Given the description of an element on the screen output the (x, y) to click on. 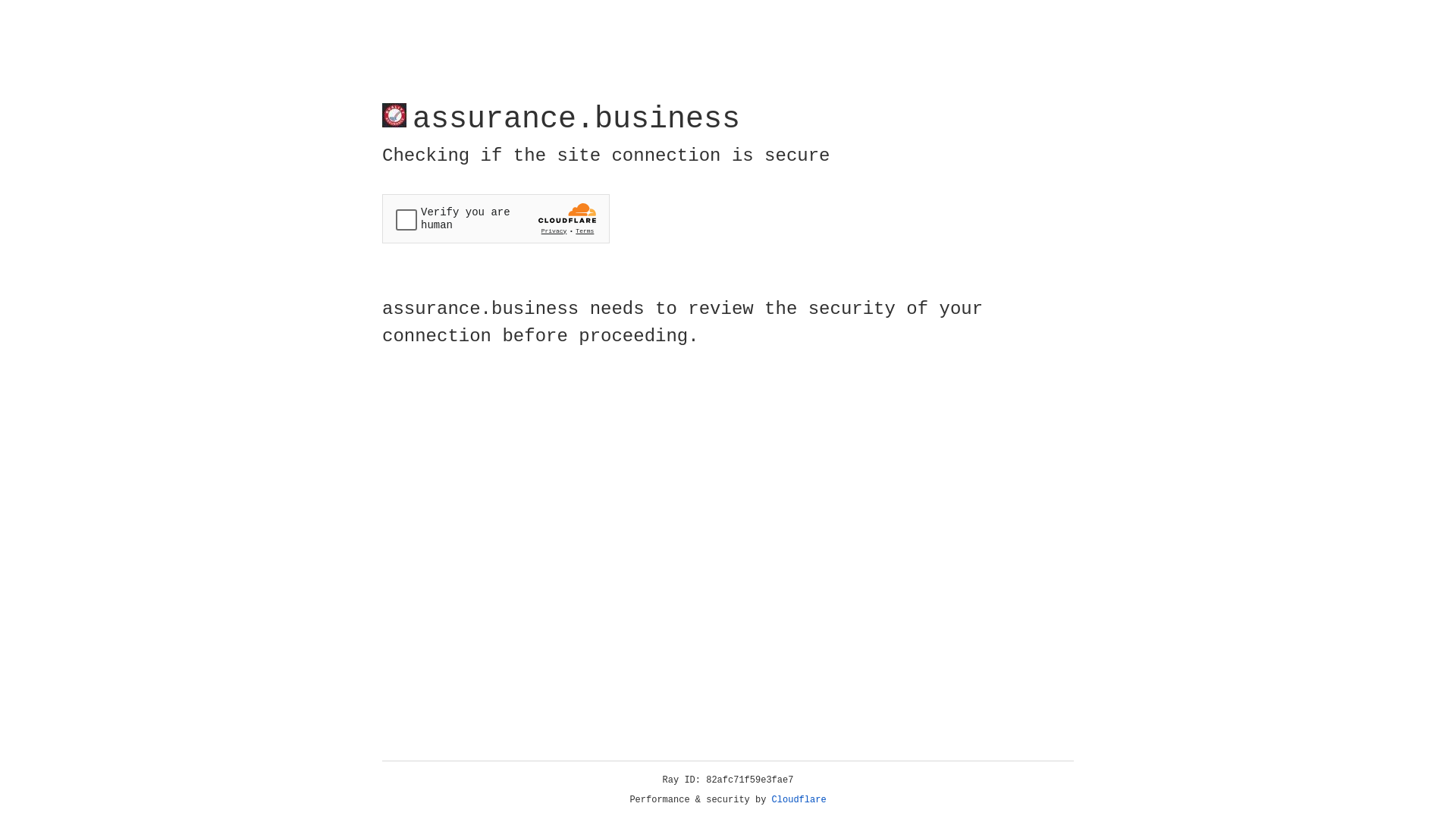
Cloudflare Element type: text (798, 799)
Widget containing a Cloudflare security challenge Element type: hover (495, 218)
